Given the description of an element on the screen output the (x, y) to click on. 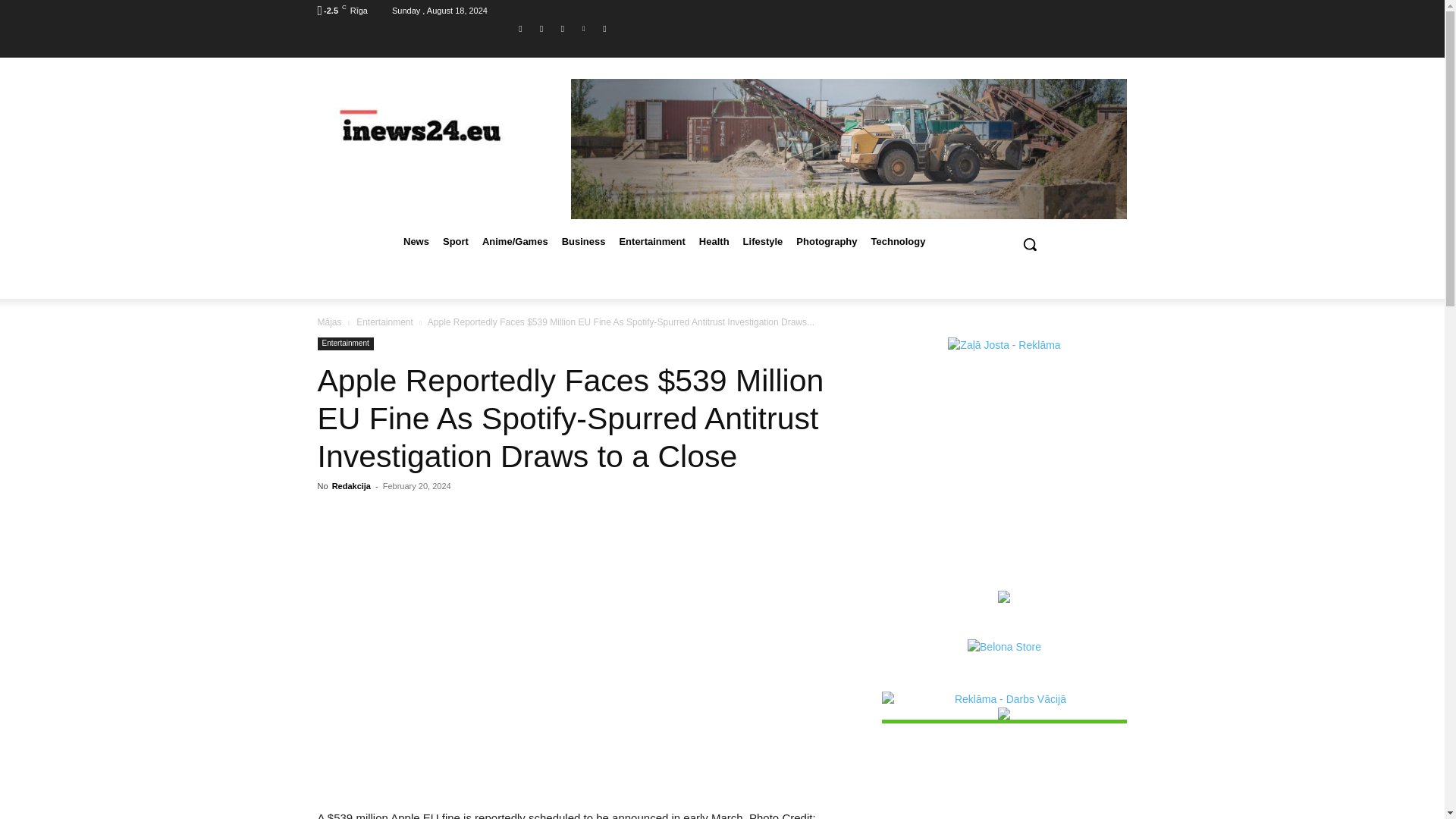
Facebook (520, 28)
Photography (826, 241)
News (415, 241)
Vimeo (583, 28)
Entertainment (384, 321)
Twitter (563, 28)
Youtube (603, 28)
Lifestyle (763, 241)
Redakcija (351, 485)
Business (583, 241)
